Given the description of an element on the screen output the (x, y) to click on. 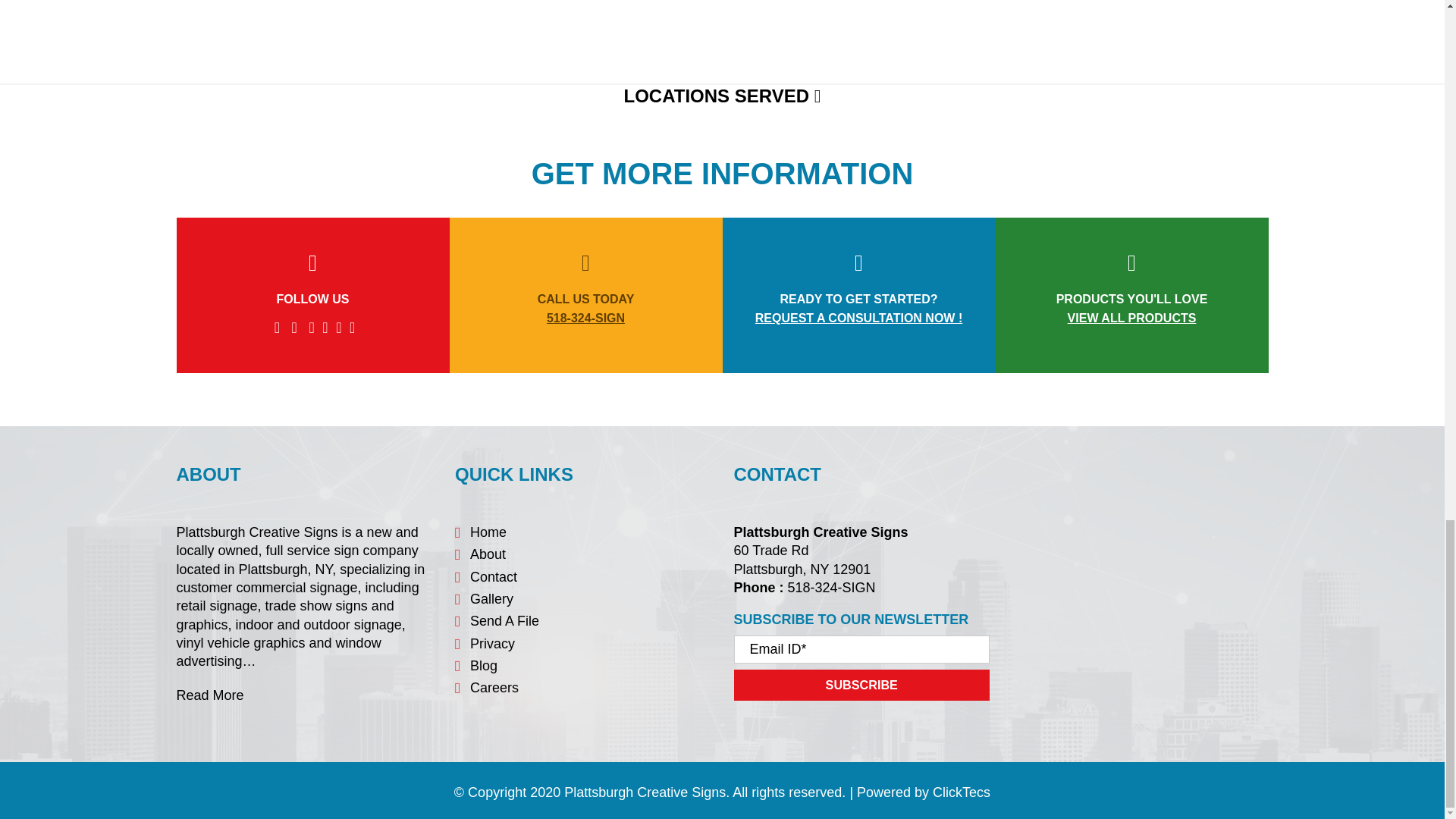
Subscribe (861, 685)
Contact us map (1139, 573)
Iframe of Google map (355, 15)
